Given the description of an element on the screen output the (x, y) to click on. 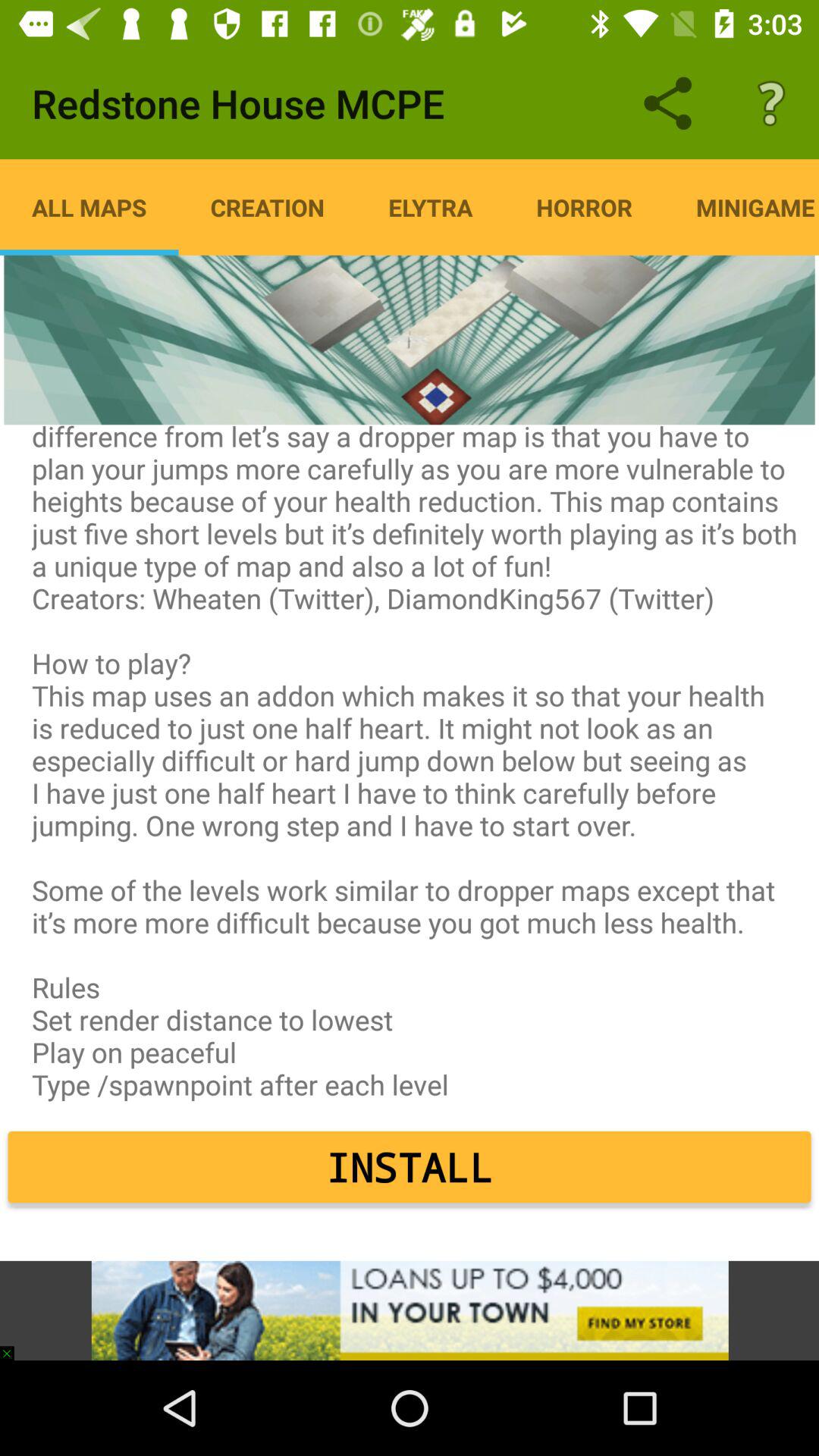
swipe until install icon (409, 1166)
